Given the description of an element on the screen output the (x, y) to click on. 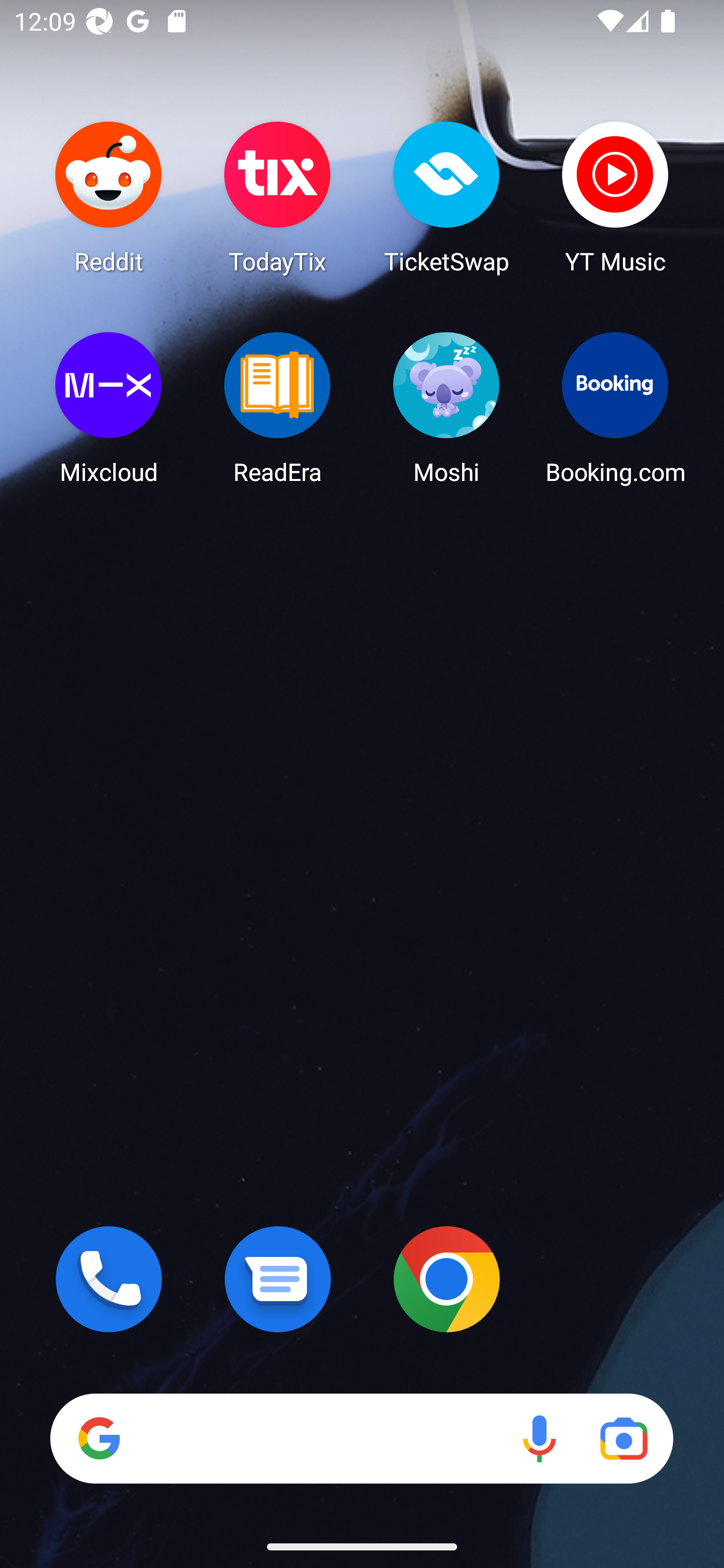
Reddit (108, 196)
TodayTix (277, 196)
TicketSwap (445, 196)
YT Music (615, 196)
Mixcloud (108, 407)
ReadEra (277, 407)
Moshi (445, 407)
Booking.com (615, 407)
Phone (108, 1279)
Messages (277, 1279)
Chrome (446, 1279)
Search Voice search Google Lens (361, 1438)
Voice search (539, 1438)
Google Lens (623, 1438)
